Given the description of an element on the screen output the (x, y) to click on. 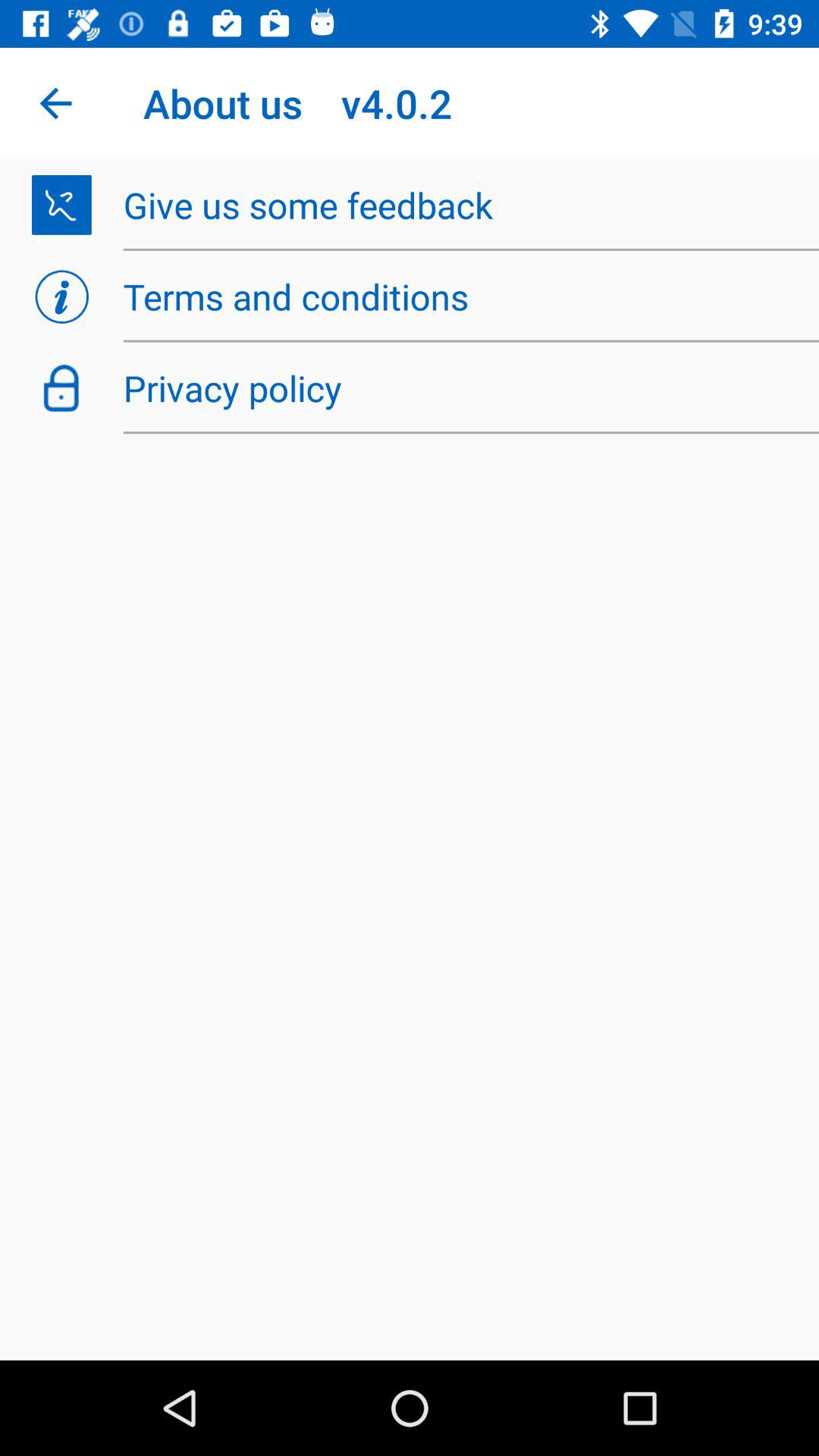
press item below the about us v4 (463, 204)
